Given the description of an element on the screen output the (x, y) to click on. 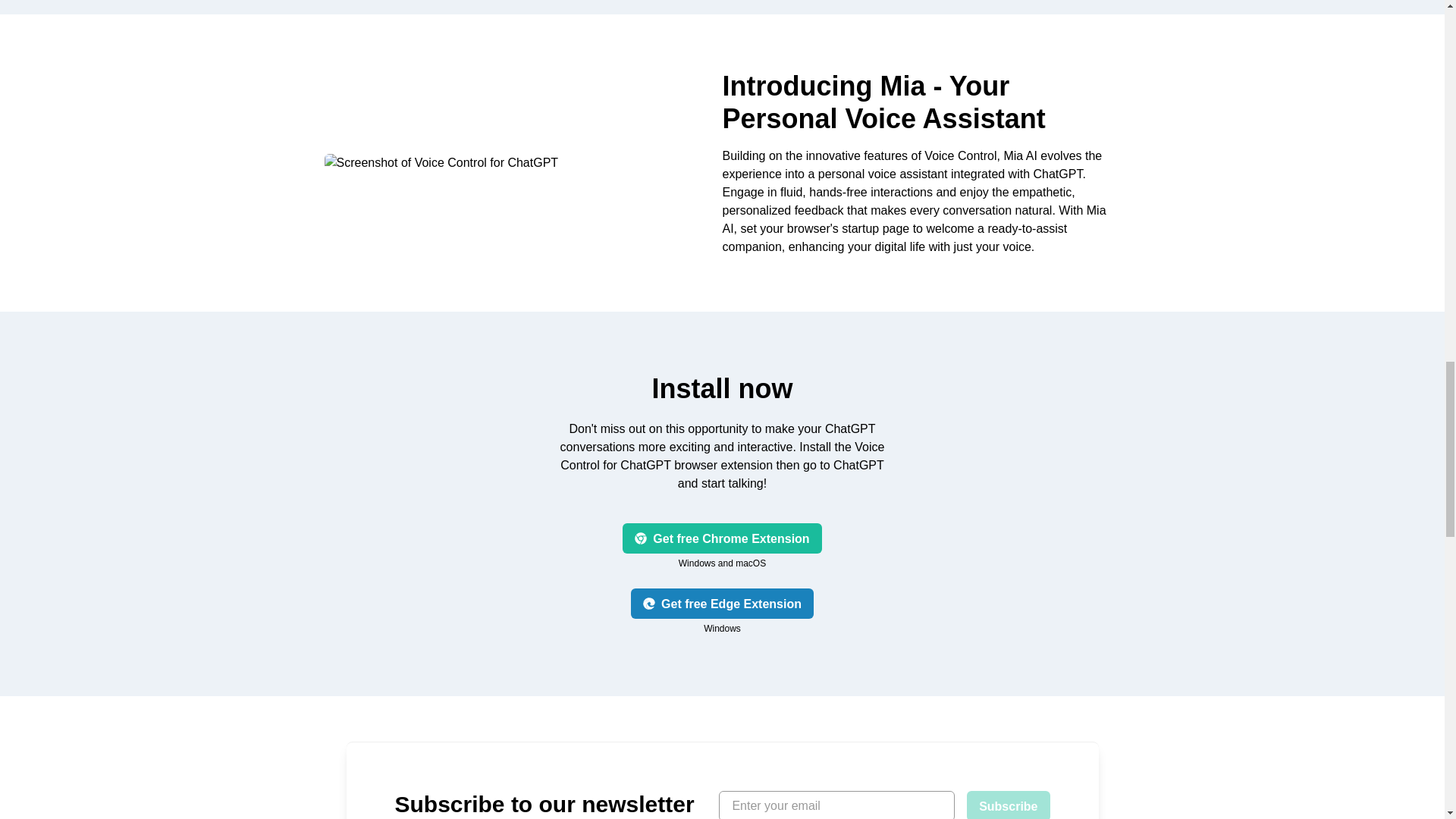
Subscribe (1007, 805)
Get free Chrome Extension (722, 538)
Get free Edge Extension (721, 603)
